Given the description of an element on the screen output the (x, y) to click on. 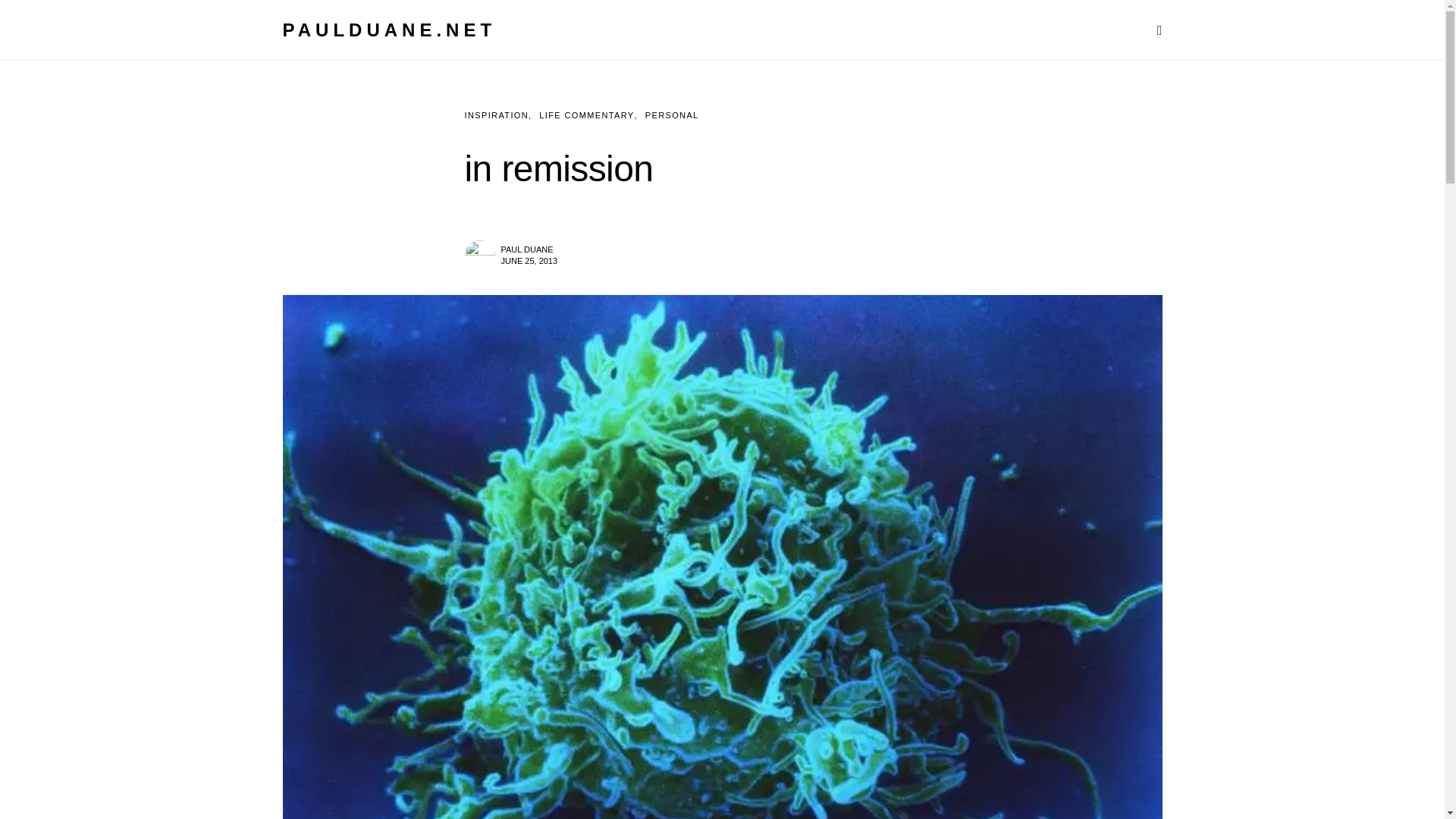
PAULDUANE.NET (389, 29)
PERSONAL (671, 114)
LIFE COMMENTARY (585, 114)
PAUL DUANE (526, 248)
INSPIRATION (496, 114)
